Given the description of an element on the screen output the (x, y) to click on. 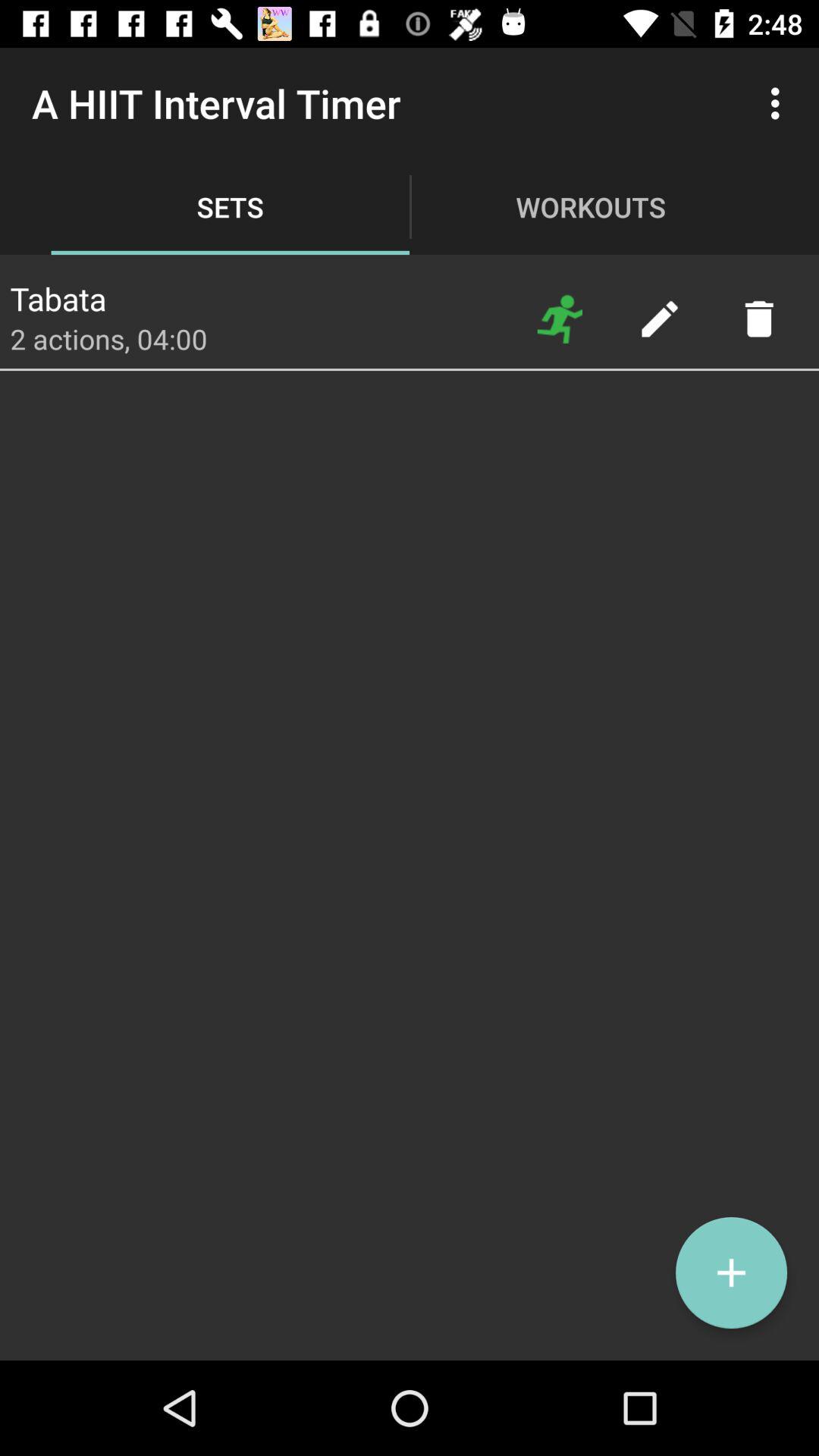
click item above the 2 actions 04 icon (58, 294)
